Given the description of an element on the screen output the (x, y) to click on. 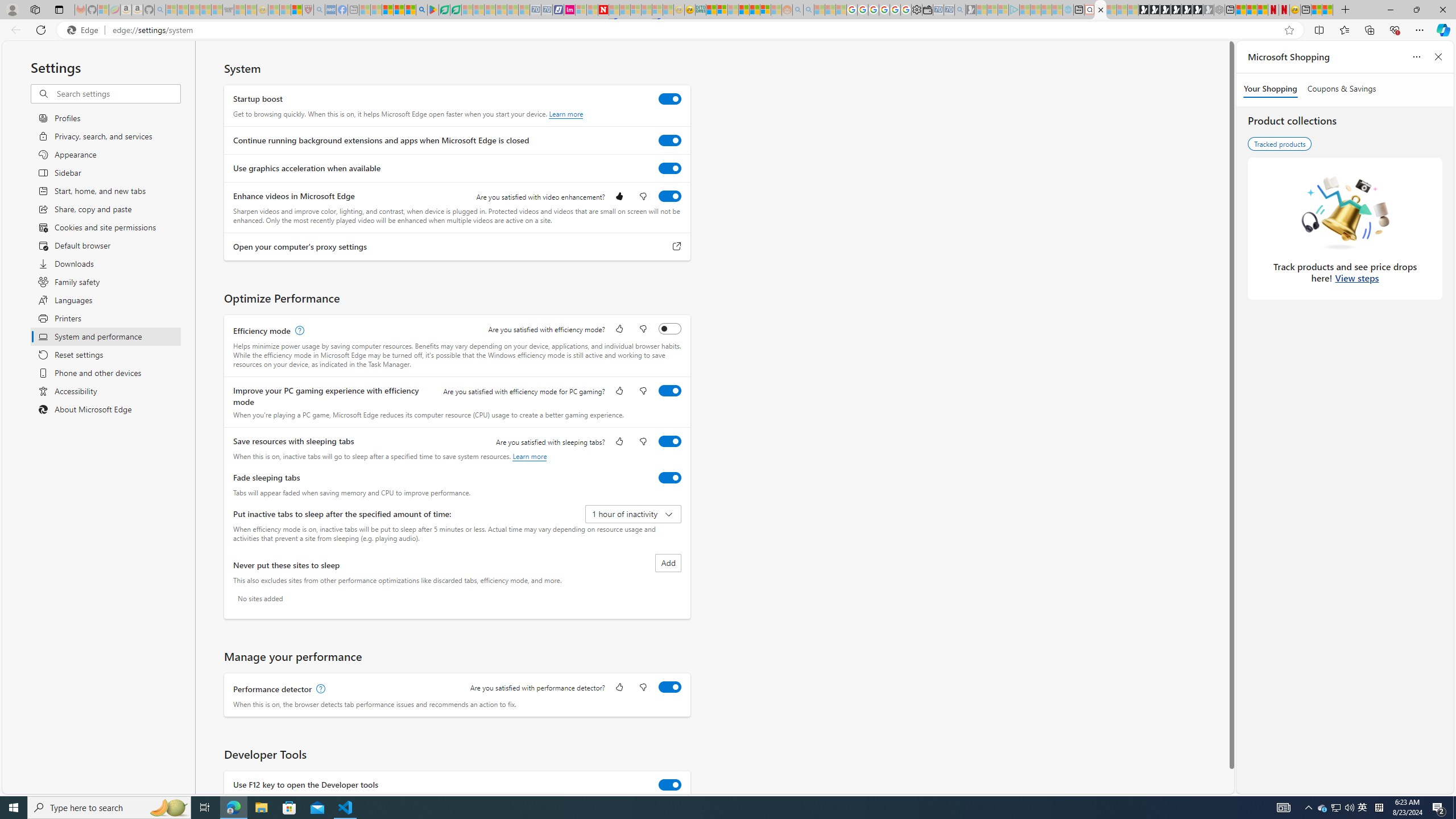
Learn more (529, 456)
Pets - MSN (398, 9)
MSNBC - MSN - Sleeping (364, 9)
Combat Siege (228, 9)
Edge (84, 29)
The Weather Channel - MSN - Sleeping (194, 9)
